Given the description of an element on the screen output the (x, y) to click on. 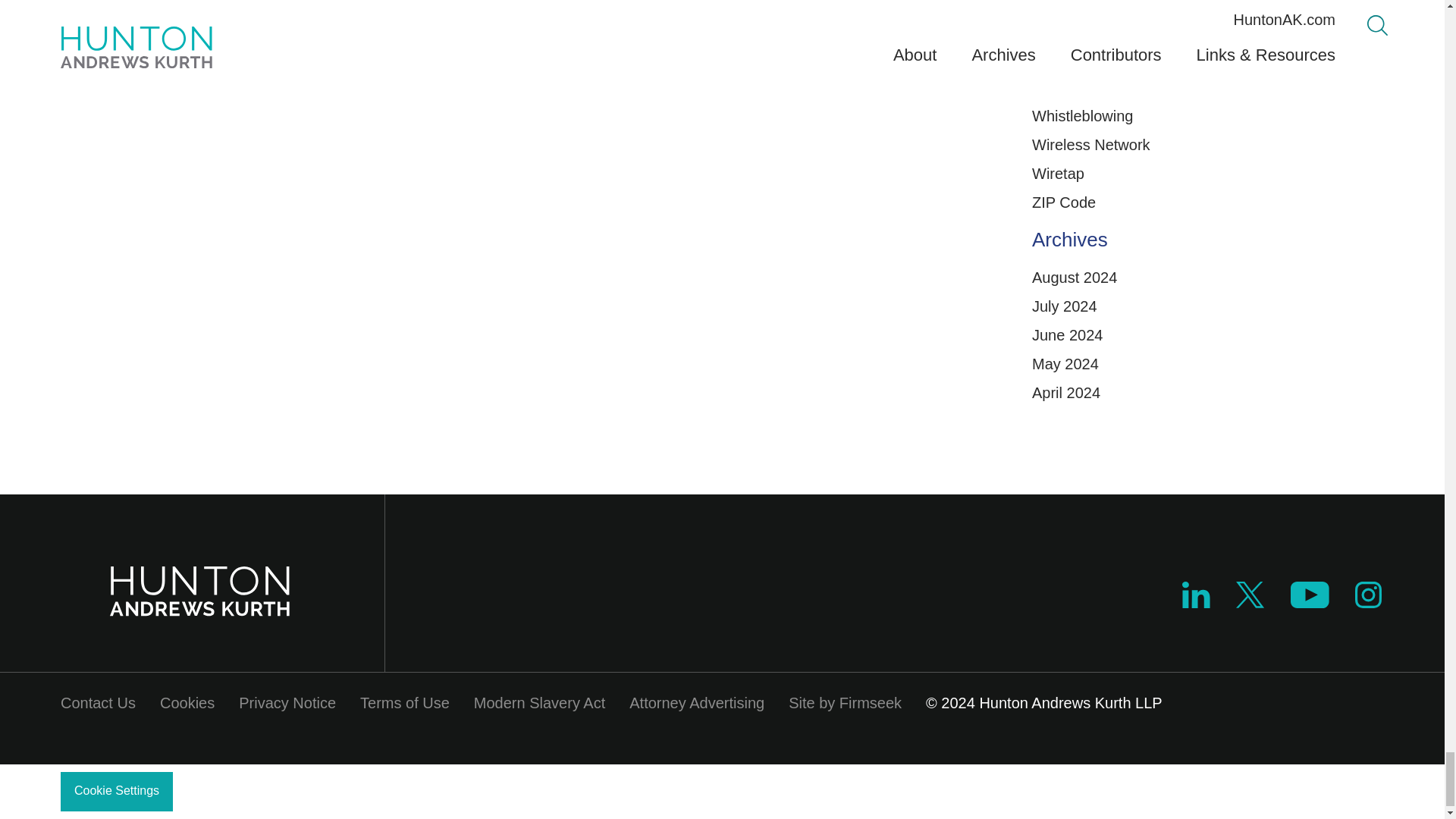
Youtube (1309, 602)
Linkedin (1195, 594)
Linkedin (1195, 602)
Instagram (1369, 602)
X (1250, 602)
Instagram (1368, 594)
Youtube (1309, 594)
